Given the description of an element on the screen output the (x, y) to click on. 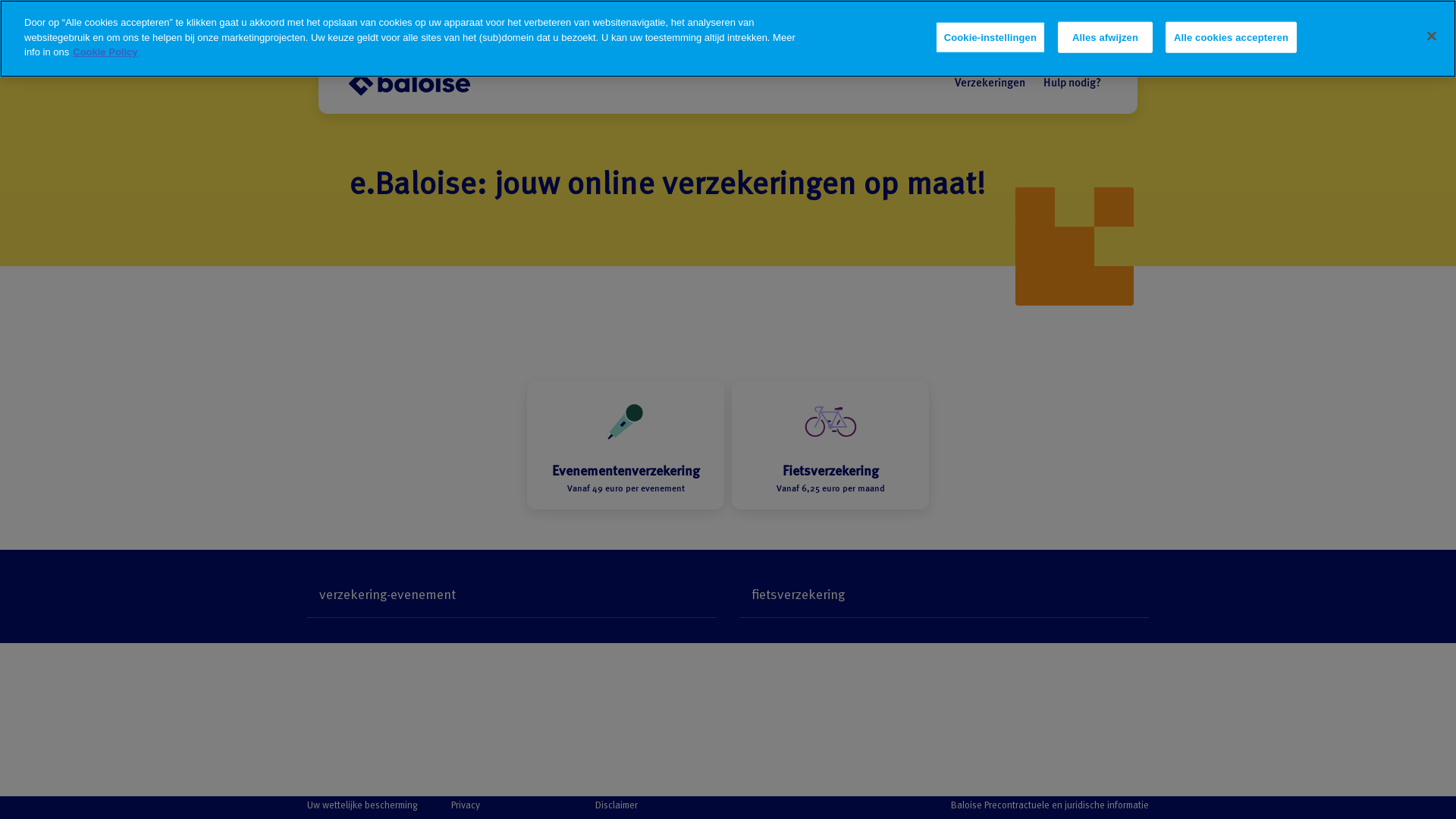
Alle cookies accepteren Element type: text (1230, 37)
Baloise Precontractuele en juridische informatie Element type: text (1049, 805)
Privacy Element type: text (465, 805)
Verzekeringen Element type: text (989, 83)
Uw wettelijke bescherming Element type: text (362, 805)
Cookie-instellingen Element type: text (989, 37)
NL Element type: text (1303, 18)
2BESURE Element type: text (1239, 18)
Cookie Policy Element type: text (104, 51)
Hulp nodig? Element type: text (1072, 83)
FR Element type: text (1333, 18)
Aanmelden Element type: text (1397, 18)
fietsverzekering Element type: text (943, 596)
Disclaimer Element type: text (616, 805)
verzekering-evenement Element type: text (511, 596)
Alles afwijzen Element type: text (1104, 37)
